Given the description of an element on the screen output the (x, y) to click on. 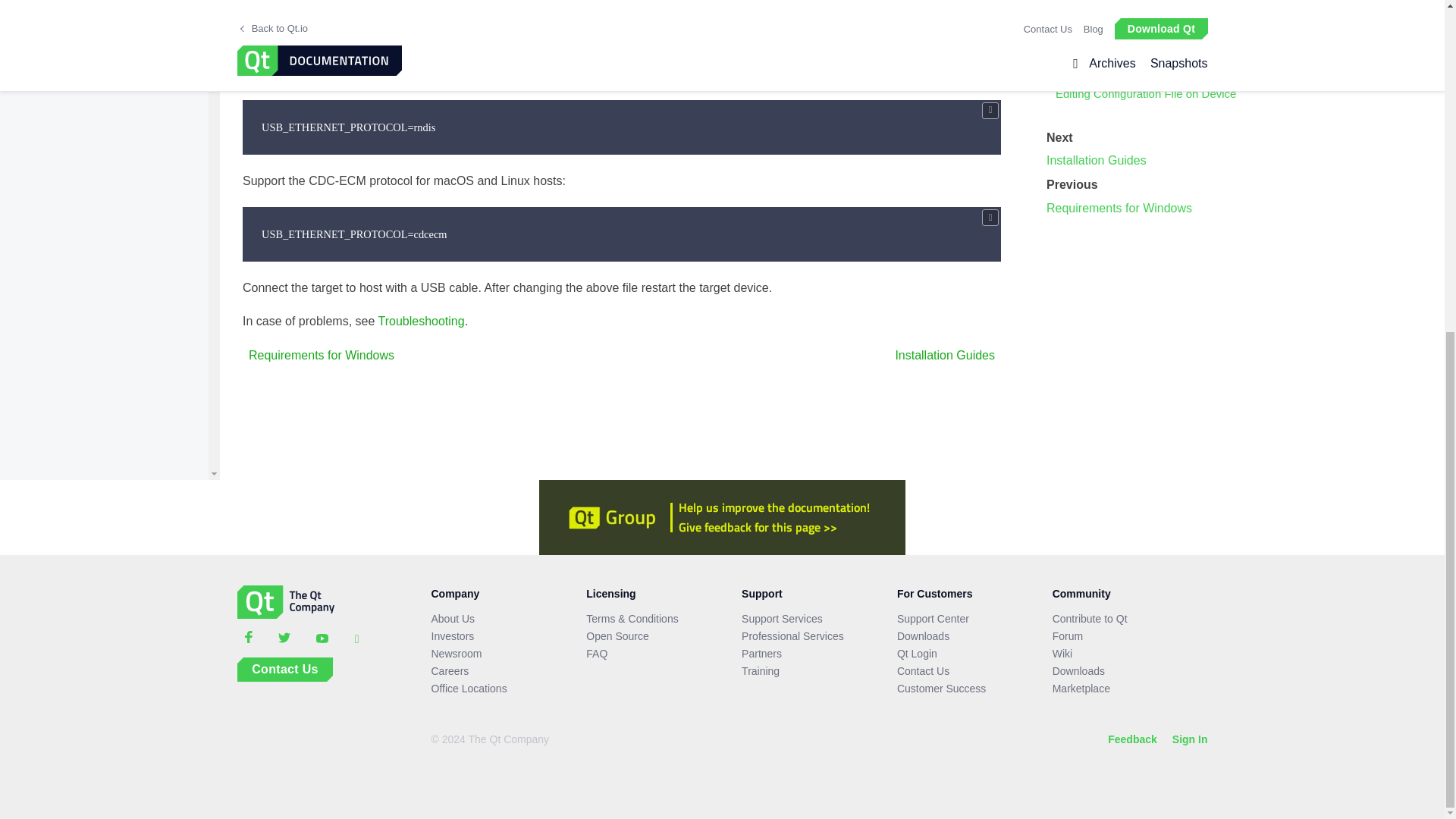
Requirements for Windows (318, 354)
Troubleshooting (420, 320)
Installation Guides (948, 355)
